Given the description of an element on the screen output the (x, y) to click on. 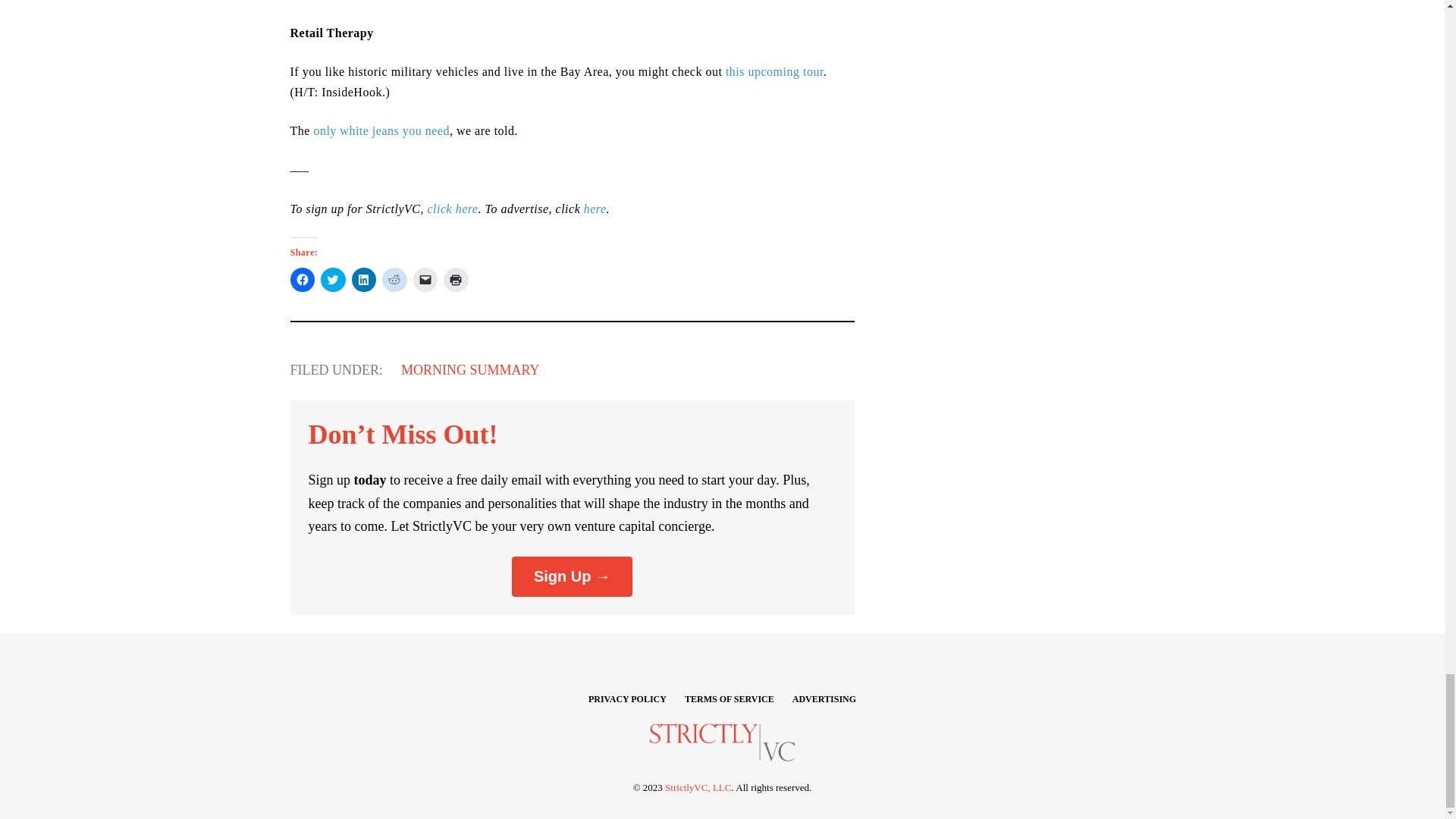
Click to share on Twitter (333, 279)
Click to email a link to a friend (425, 279)
Click to print (456, 279)
Click to share on Reddit (394, 279)
Click to share on Facebook (301, 279)
Click to share on LinkedIn (364, 279)
